Given the description of an element on the screen output the (x, y) to click on. 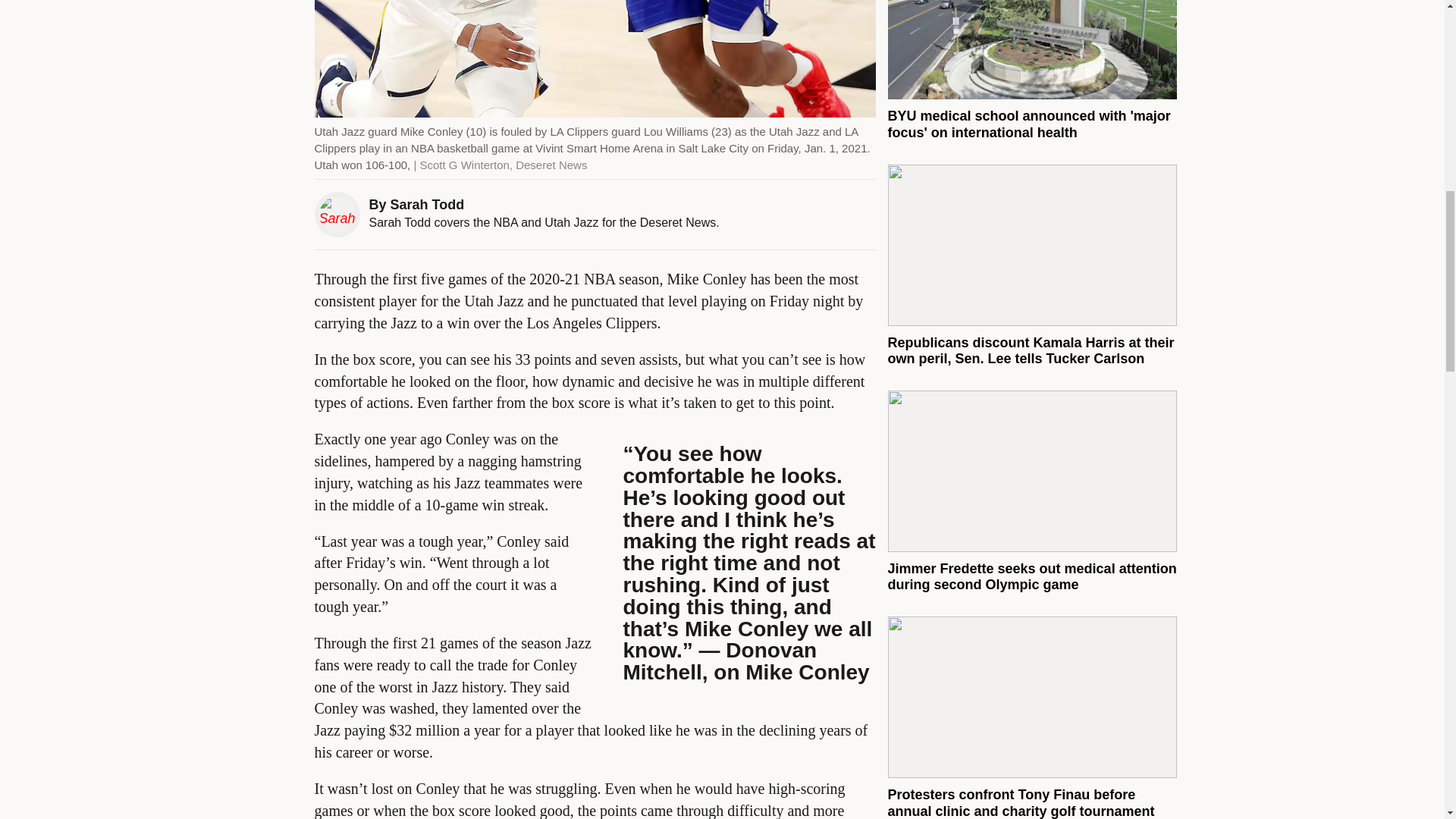
Sarah Todd (427, 204)
